Given the description of an element on the screen output the (x, y) to click on. 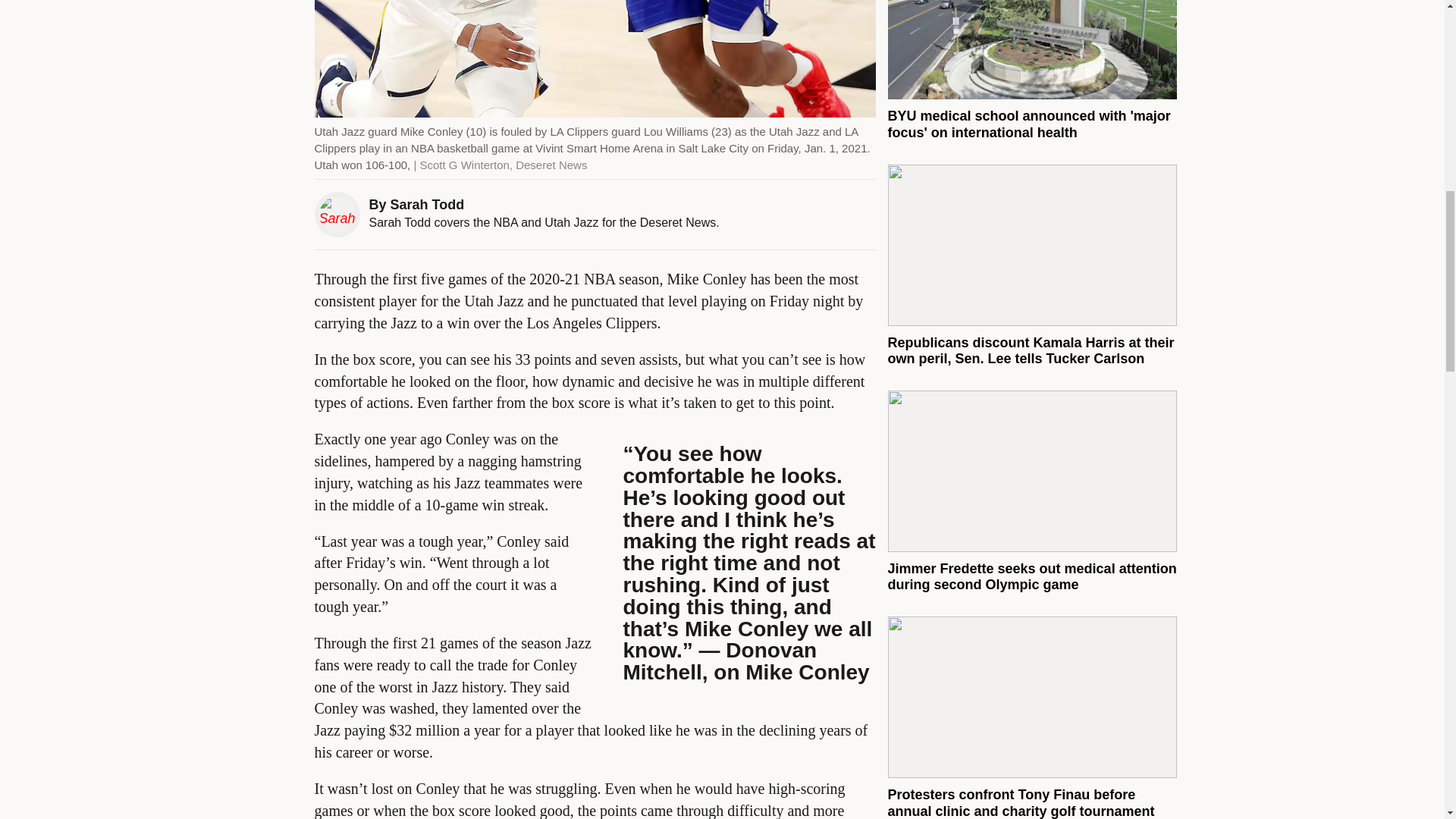
Sarah Todd (427, 204)
